Given the description of an element on the screen output the (x, y) to click on. 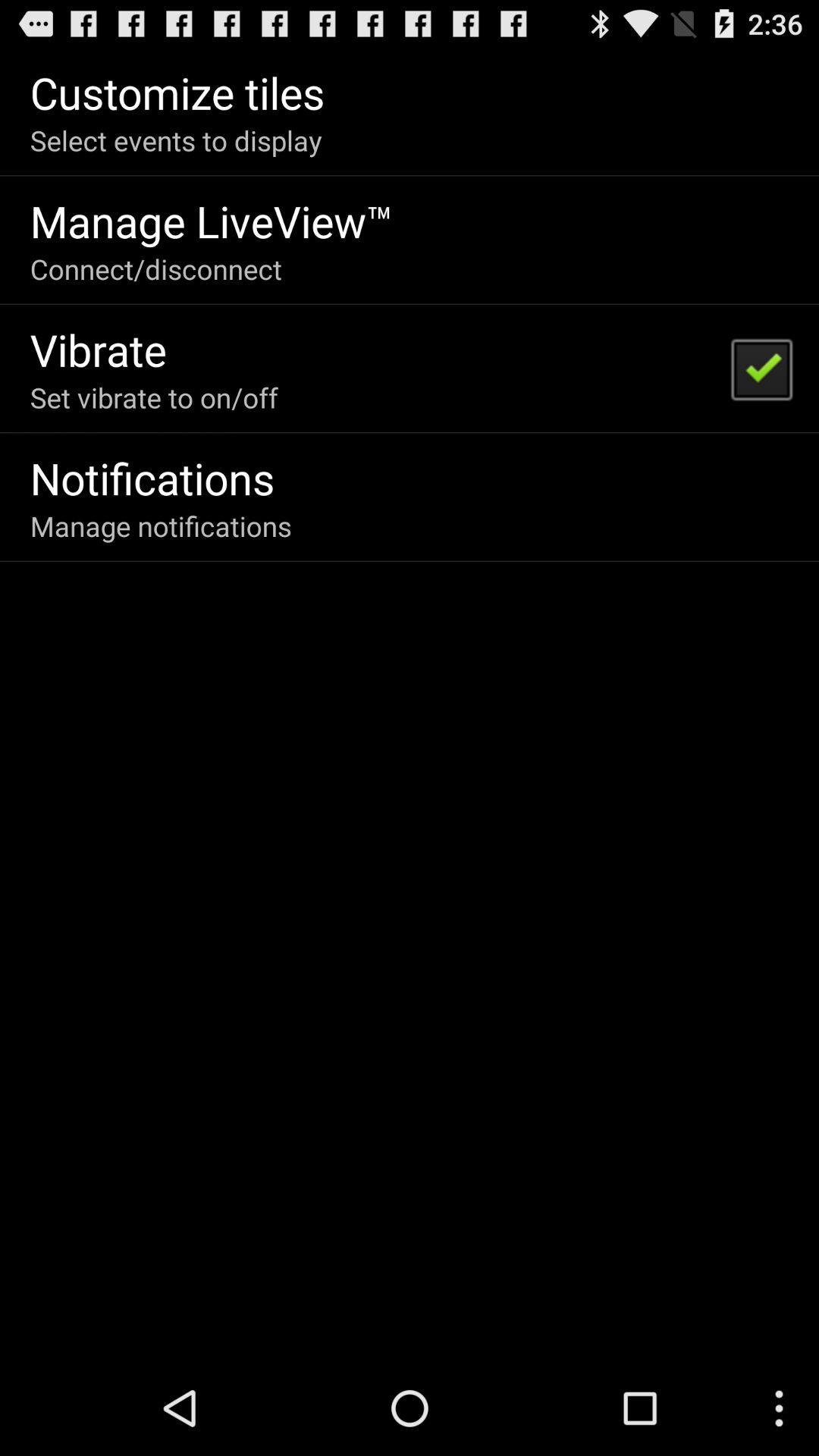
select item next to set vibrate to item (761, 368)
